Given the description of an element on the screen output the (x, y) to click on. 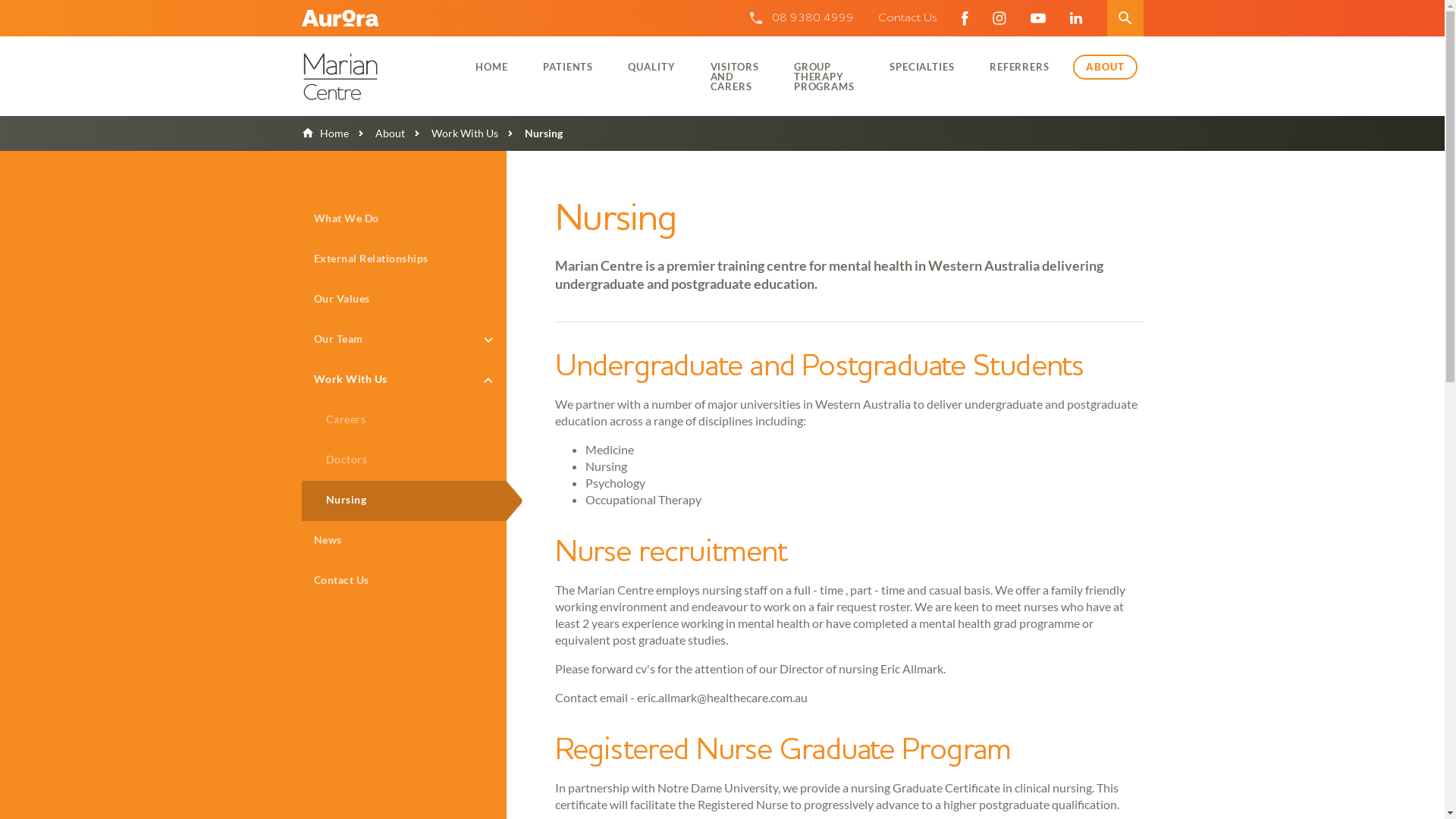
REFERRERS Element type: text (1019, 66)
About Element type: text (376, 132)
Facebook page - mariancentrehealthecare Element type: text (964, 17)
PATIENTS Element type: text (567, 66)
What We Do Element type: text (403, 219)
instagram page - mariancentre Element type: text (998, 18)
Nursing Element type: text (403, 500)
VISITORS AND CARERS Element type: text (734, 75)
youTube channel page - UCmlIpi6FoZz6aSYolo2XFZA Element type: text (1036, 17)
Marian Centre Element type: text (373, 75)
Our Values Element type: text (403, 299)
External Relationships Element type: text (403, 259)
News Element type: text (403, 540)
Careers Element type: text (403, 420)
08 9380 4999 Element type: text (812, 18)
Contact Us Element type: text (403, 581)
Contact Us Element type: text (907, 18)
Work With Us Element type: text (451, 132)
Home Element type: text (324, 132)
GROUP THERAPY PROGRAMS Element type: text (824, 75)
Work With Us Element type: text (403, 380)
Our Team Element type: text (403, 340)
SPECIALTIES Element type: text (922, 66)
ABOUT
(CURRENT) Element type: text (1104, 66)
HOME Element type: text (491, 66)
Doctors Element type: text (403, 460)
QUALITY Element type: text (651, 66)
LinkedIn - 74750267 Element type: text (1075, 18)
